Given the description of an element on the screen output the (x, y) to click on. 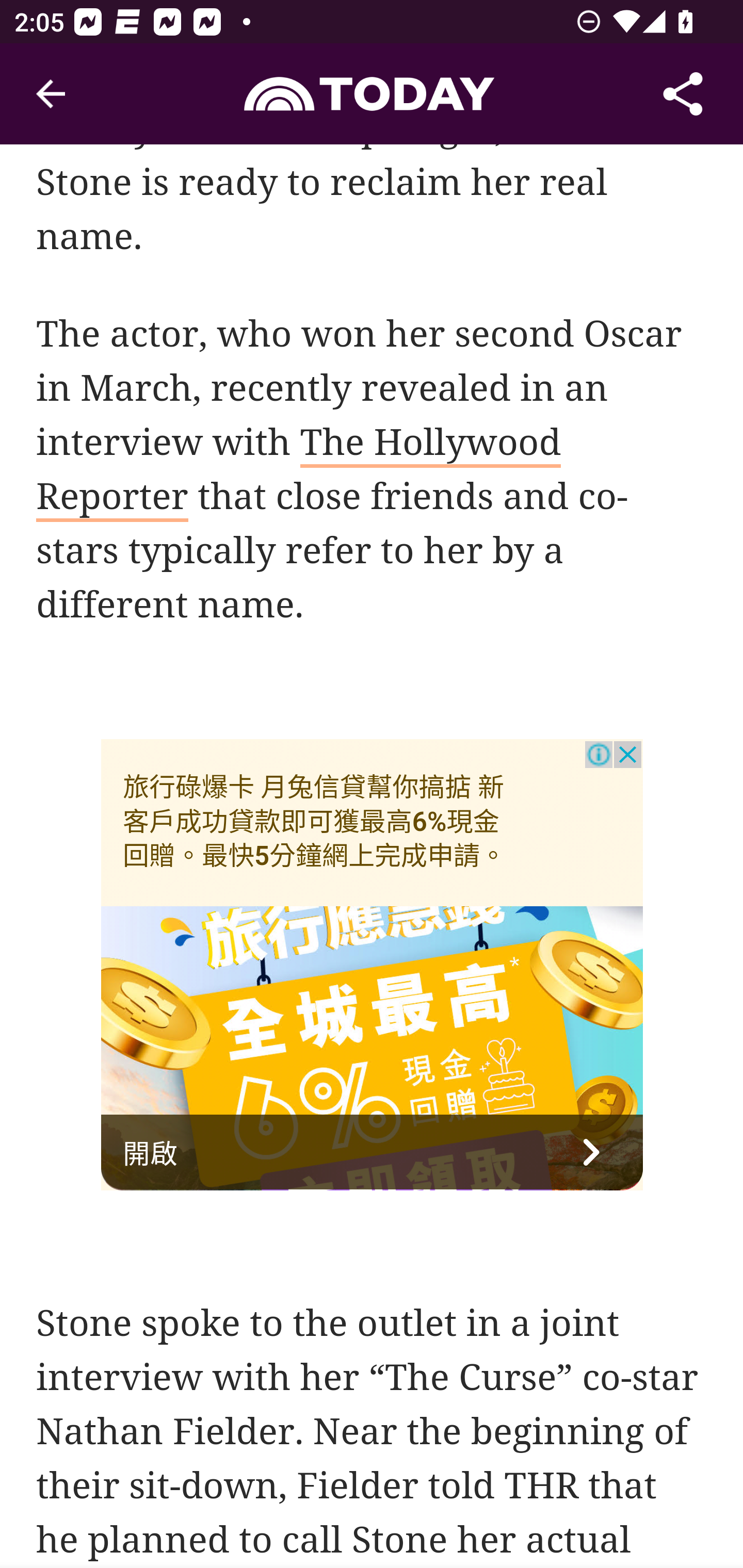
Navigate up (50, 93)
Share Article, button (683, 94)
Header, Today (371, 93)
The Hollywood Reporter (298, 472)
開啟 (372, 1153)
